Given the description of an element on the screen output the (x, y) to click on. 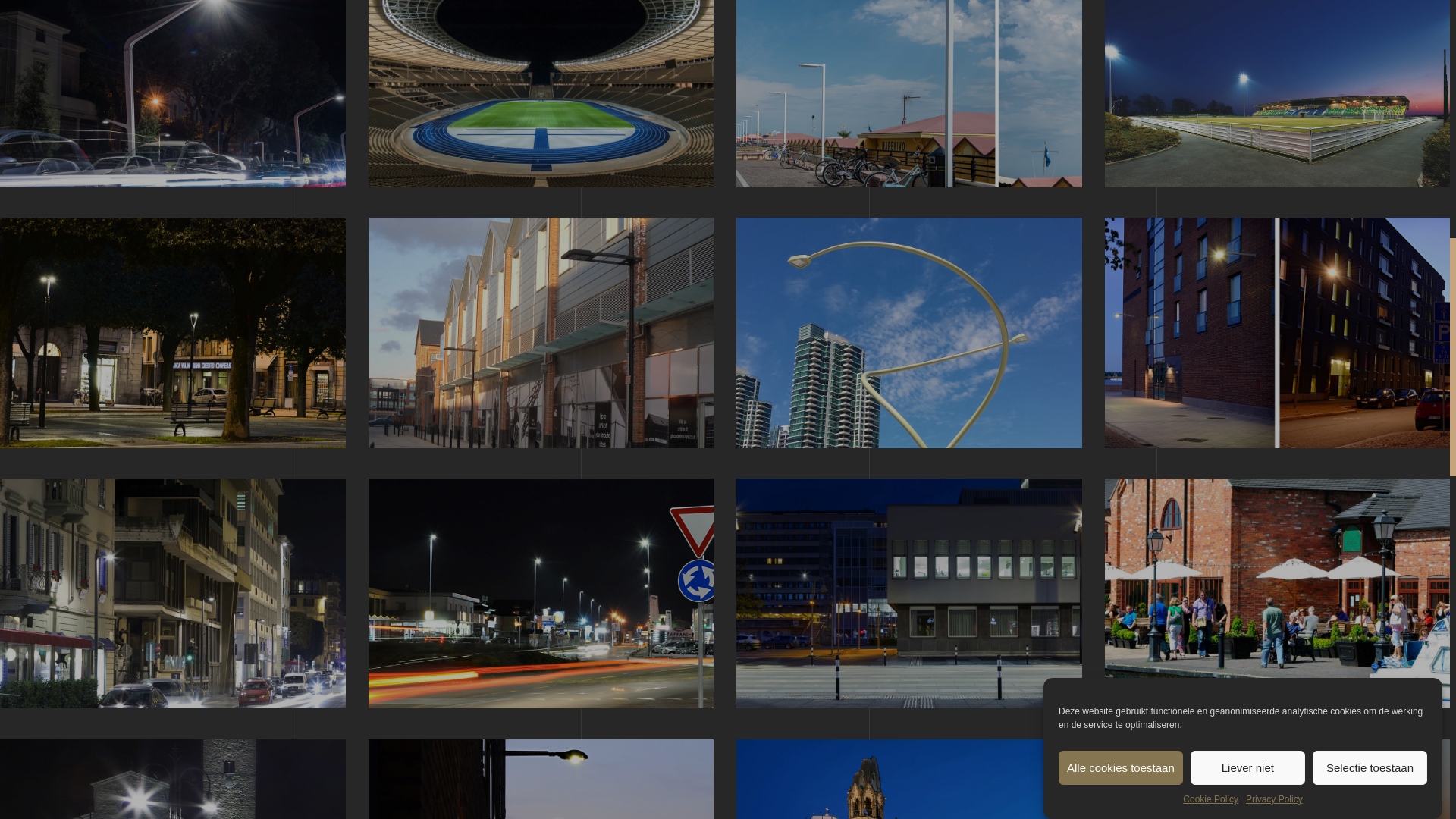
Privacy Policy (1274, 76)
Selectie toestaan (1369, 110)
Cookie Policy (1210, 83)
Alle cookies toestaan (1120, 161)
Liever niet (1247, 134)
